Given the description of an element on the screen output the (x, y) to click on. 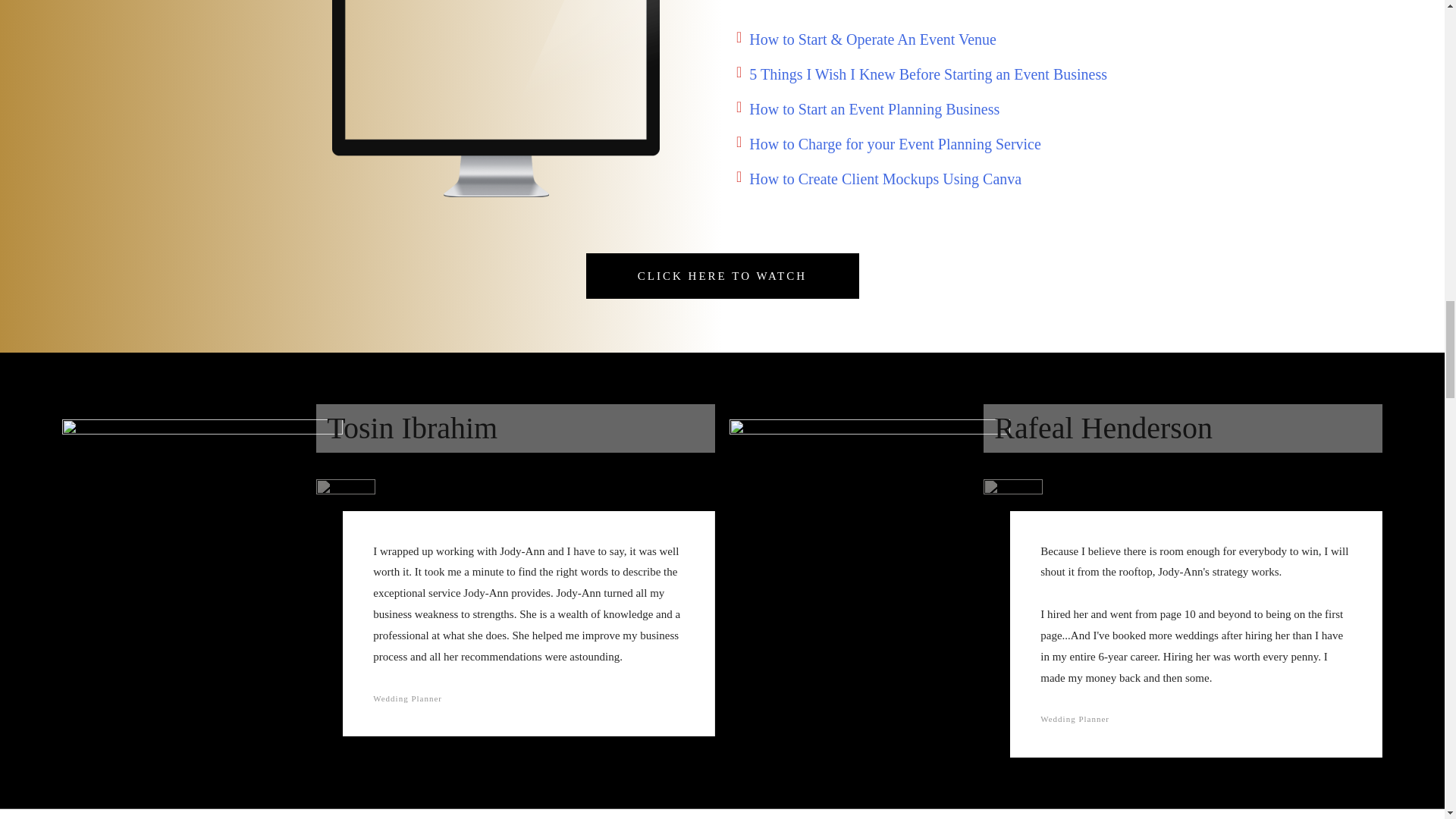
5 Things I Wish I Knew Before Starting an Event Business (927, 74)
How to Create Client Mockups Using Canva (885, 178)
How to Charge for your Event Planning Service (895, 143)
How to Start an Event Planning Business (873, 108)
CLICK HERE TO WATCH (722, 276)
